Given the description of an element on the screen output the (x, y) to click on. 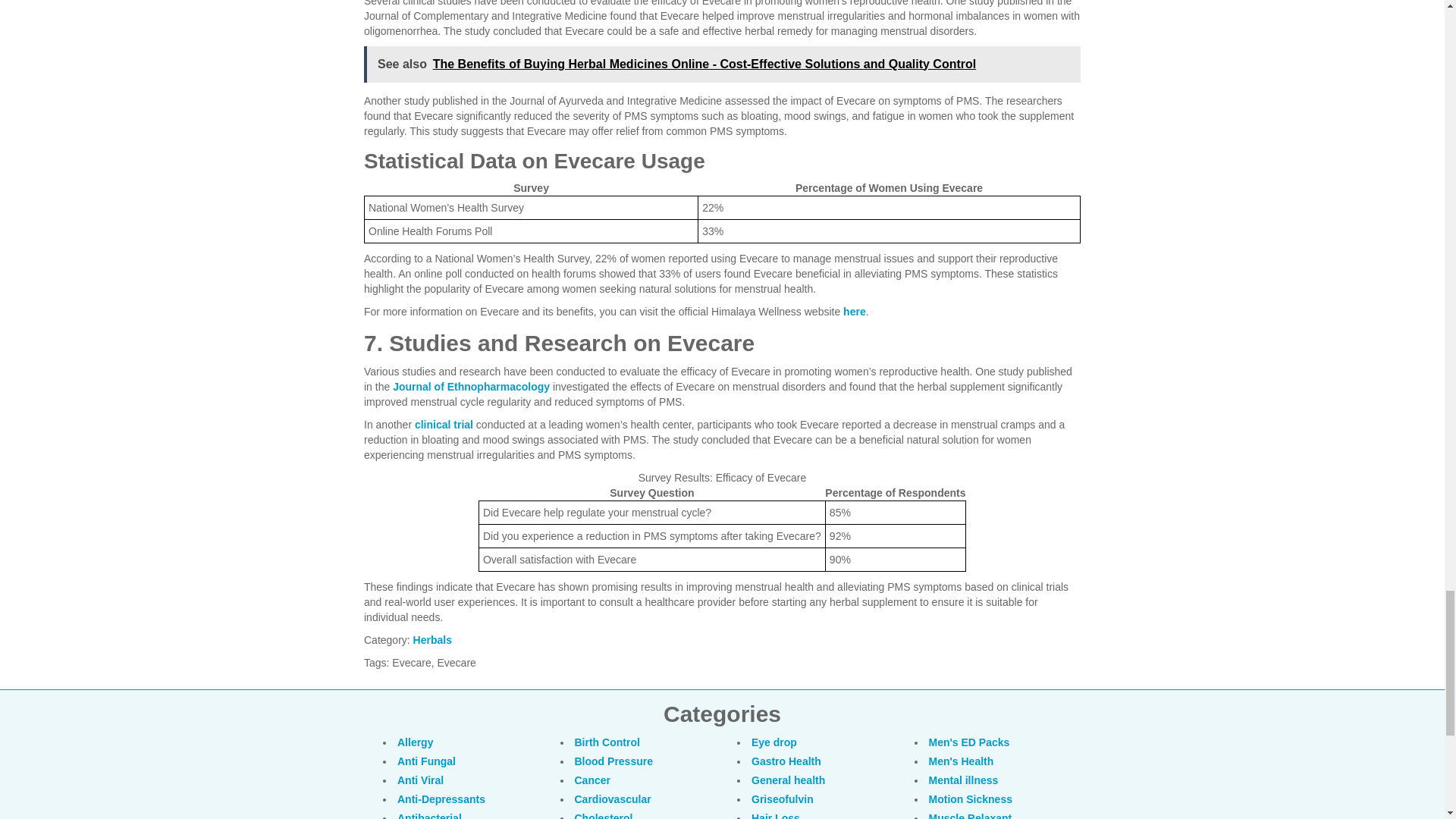
Birth Control (607, 741)
clinical trial (443, 424)
Herbals (432, 639)
Anti-Depressants (440, 799)
Blood Pressure (613, 761)
Allergy (414, 741)
here (854, 310)
Antibacterial (429, 815)
Anti Fungal (426, 761)
Cancer (592, 779)
Anti Viral (420, 779)
Journal of Ethnopharmacology (471, 386)
